Given the description of an element on the screen output the (x, y) to click on. 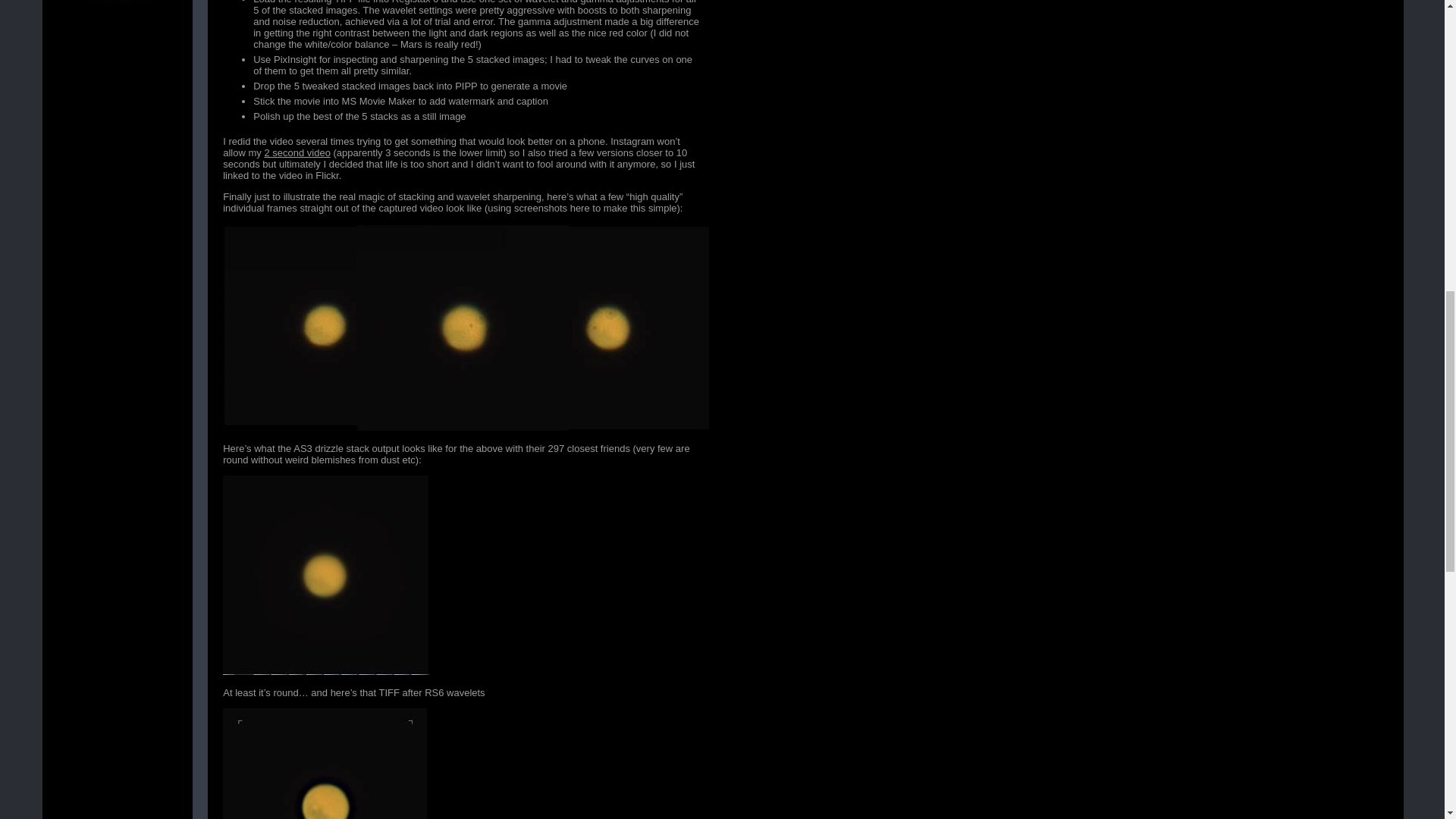
Mars with wavelet sharpening (324, 763)
AS3 stacked Mars frames (325, 574)
typical good video frames (465, 326)
